Given the description of an element on the screen output the (x, y) to click on. 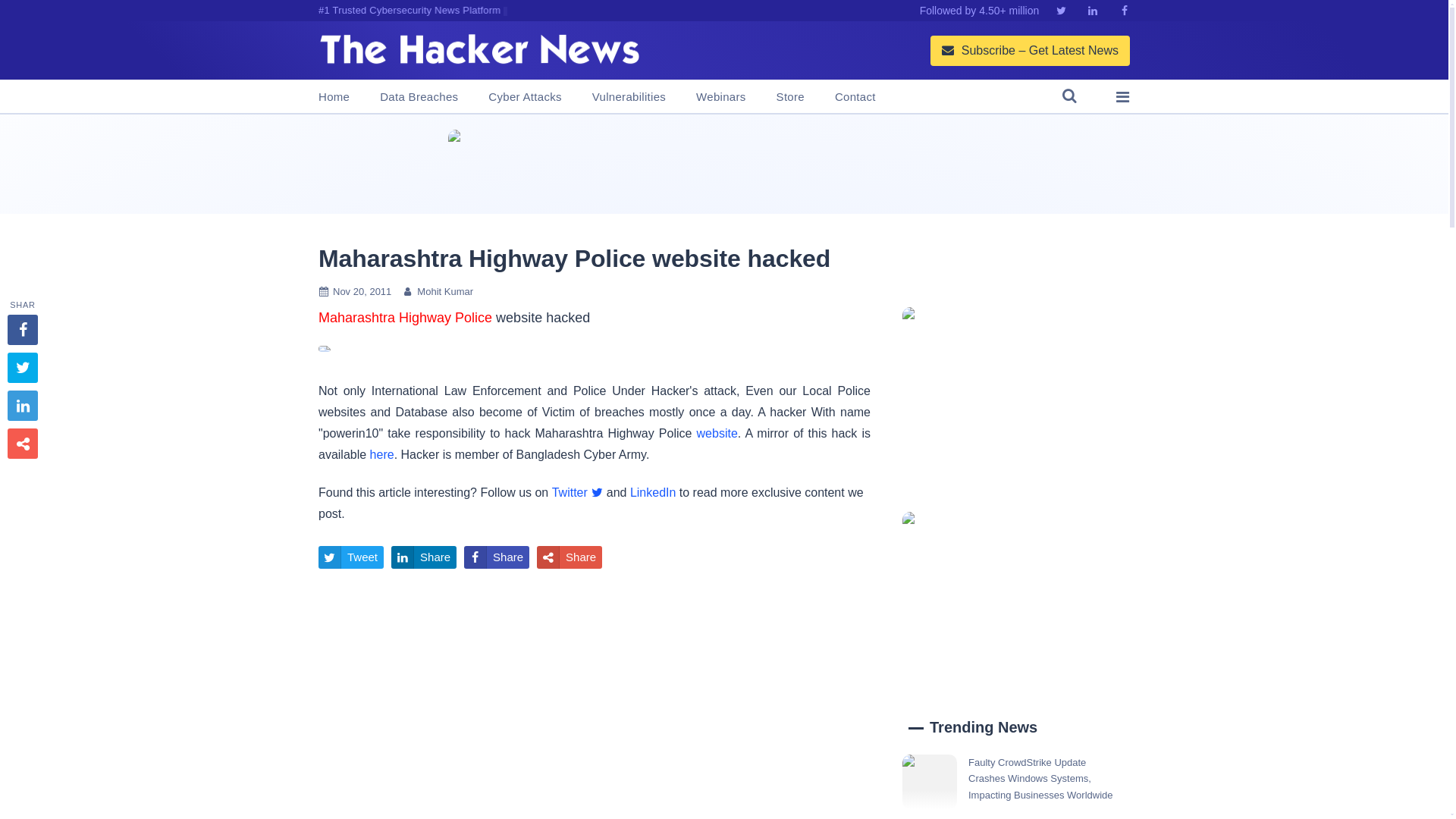
Home (333, 96)
Data Breaches (419, 96)
Webinars (720, 96)
here (381, 454)
Insider Risk Management (723, 164)
Contact (855, 96)
LinkedIn (653, 492)
Maharashtra Highway Police website hacked (573, 257)
Cyber Attacks (523, 96)
website (717, 432)
Vulnerabilities (628, 96)
